Given the description of an element on the screen output the (x, y) to click on. 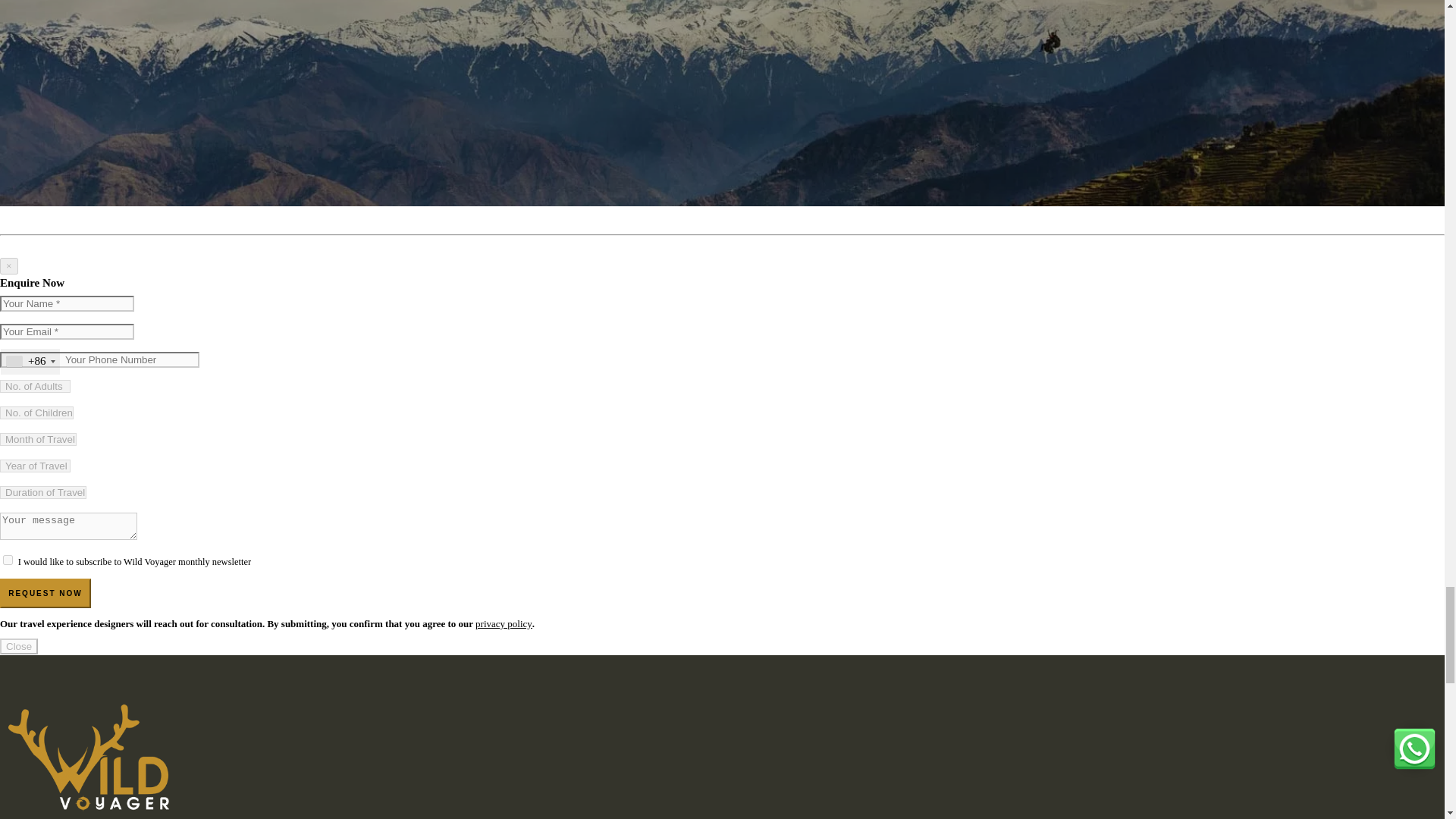
1 (7, 560)
Request now (45, 593)
